Given the description of an element on the screen output the (x, y) to click on. 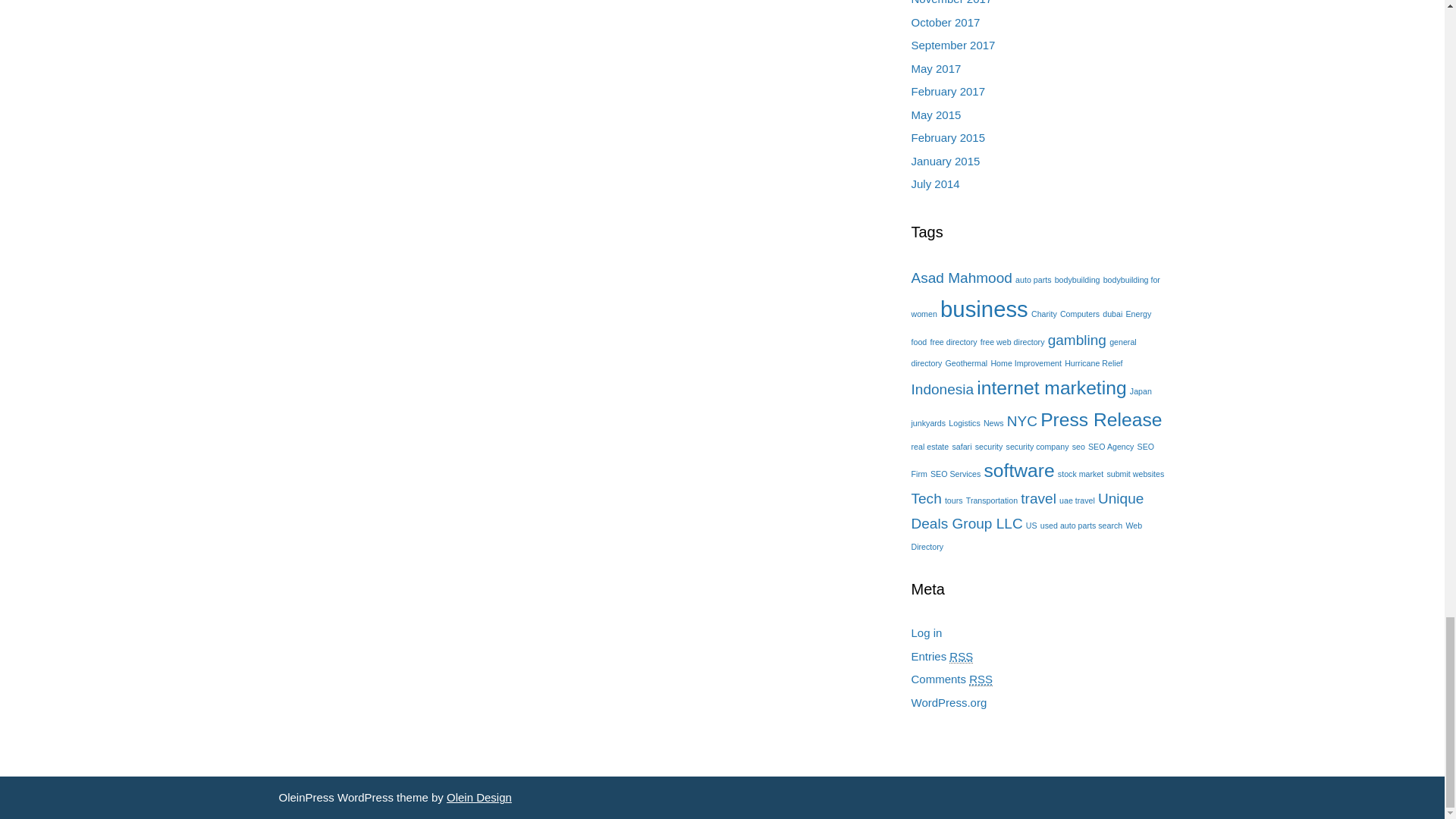
Really Simple Syndication (960, 656)
Really Simple Syndication (980, 679)
